Given the description of an element on the screen output the (x, y) to click on. 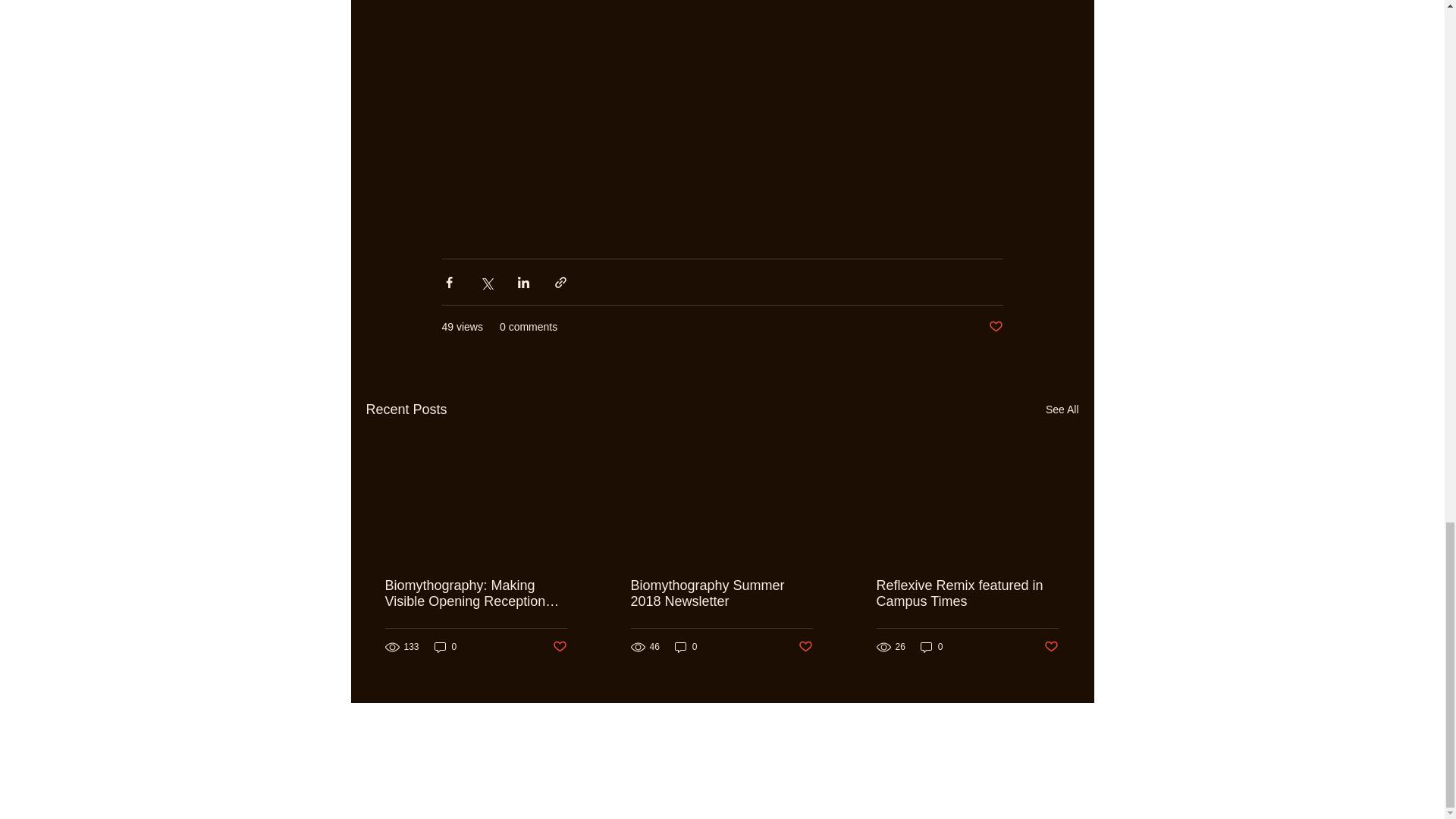
Post not marked as liked (1050, 647)
See All (1061, 409)
Post not marked as liked (995, 326)
0 (445, 646)
0 (685, 646)
0 (931, 646)
Post not marked as liked (804, 647)
Post not marked as liked (558, 647)
Biomythography Summer 2018 Newsletter (721, 593)
Reflexive Remix featured in Campus Times (967, 593)
